Given the description of an element on the screen output the (x, y) to click on. 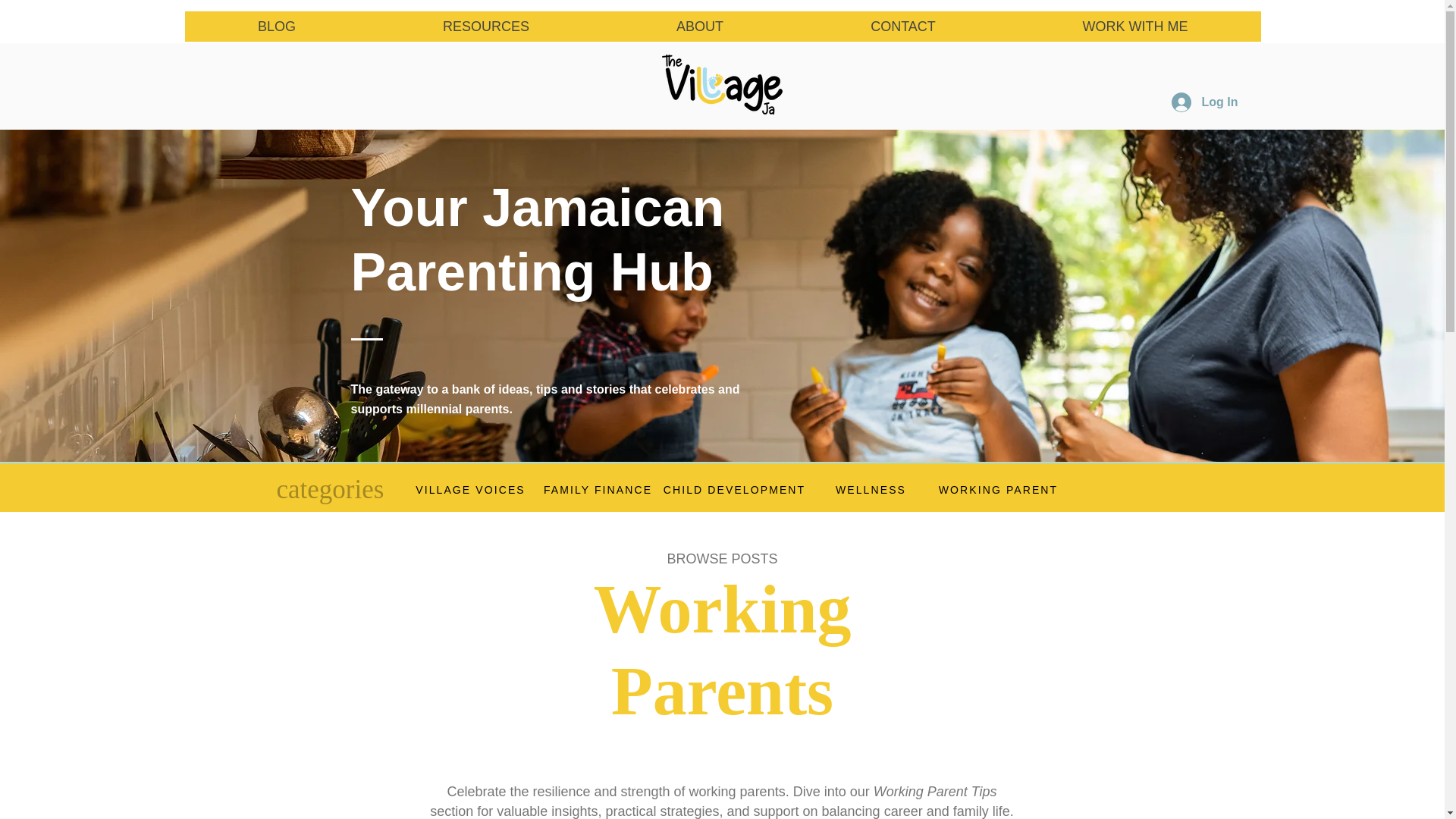
BLOG (276, 26)
FAMILY FINANCE (597, 489)
CHILD DEVELOPMENT (733, 489)
CONTACT (902, 26)
WELLNESS (870, 489)
WORKING PARENT (997, 489)
RESOURCES (485, 26)
ABOUT (699, 26)
VILLAGE VOICES (470, 489)
Log In (1204, 102)
